Given the description of an element on the screen output the (x, y) to click on. 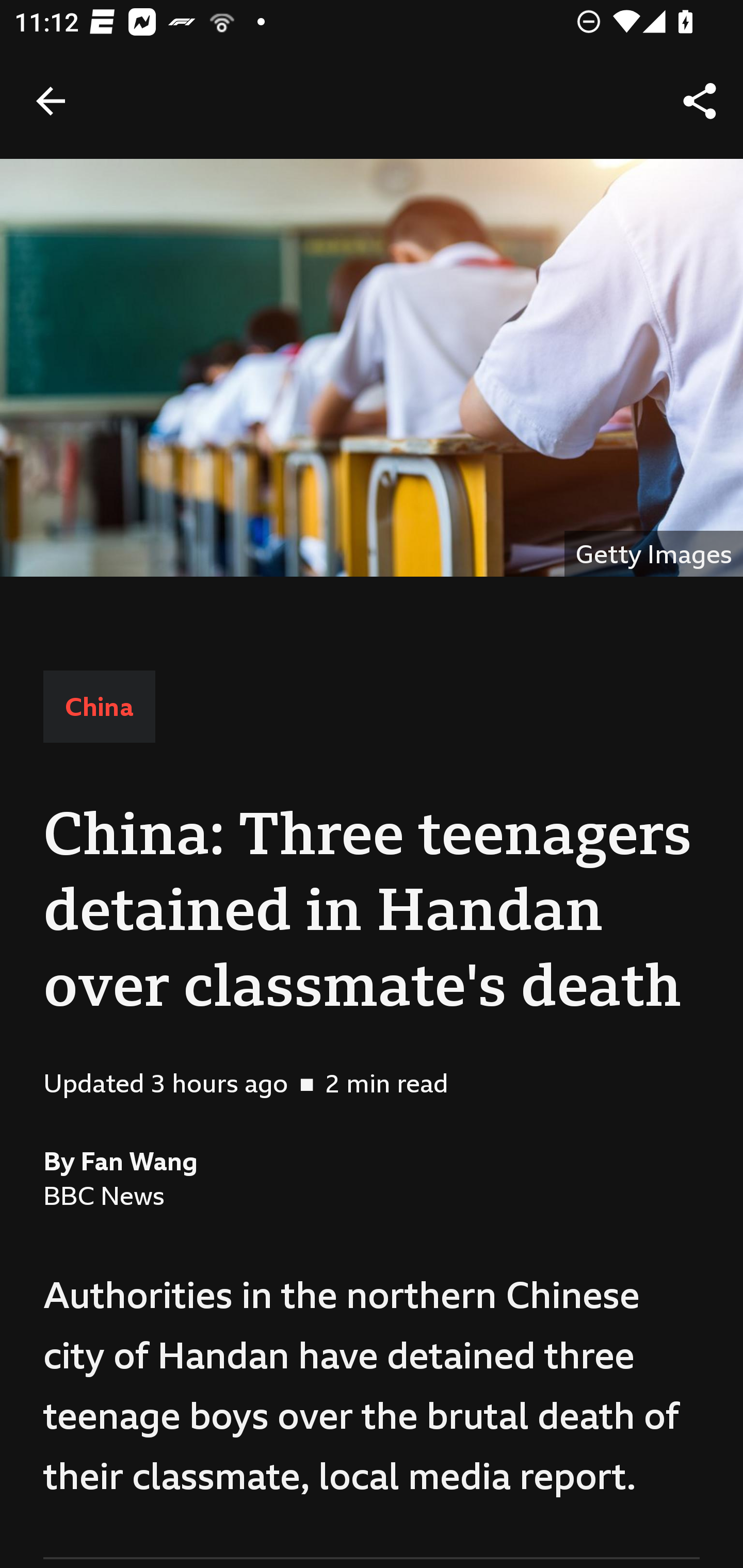
Back (50, 101)
Share (699, 101)
China (99, 706)
